Given the description of an element on the screen output the (x, y) to click on. 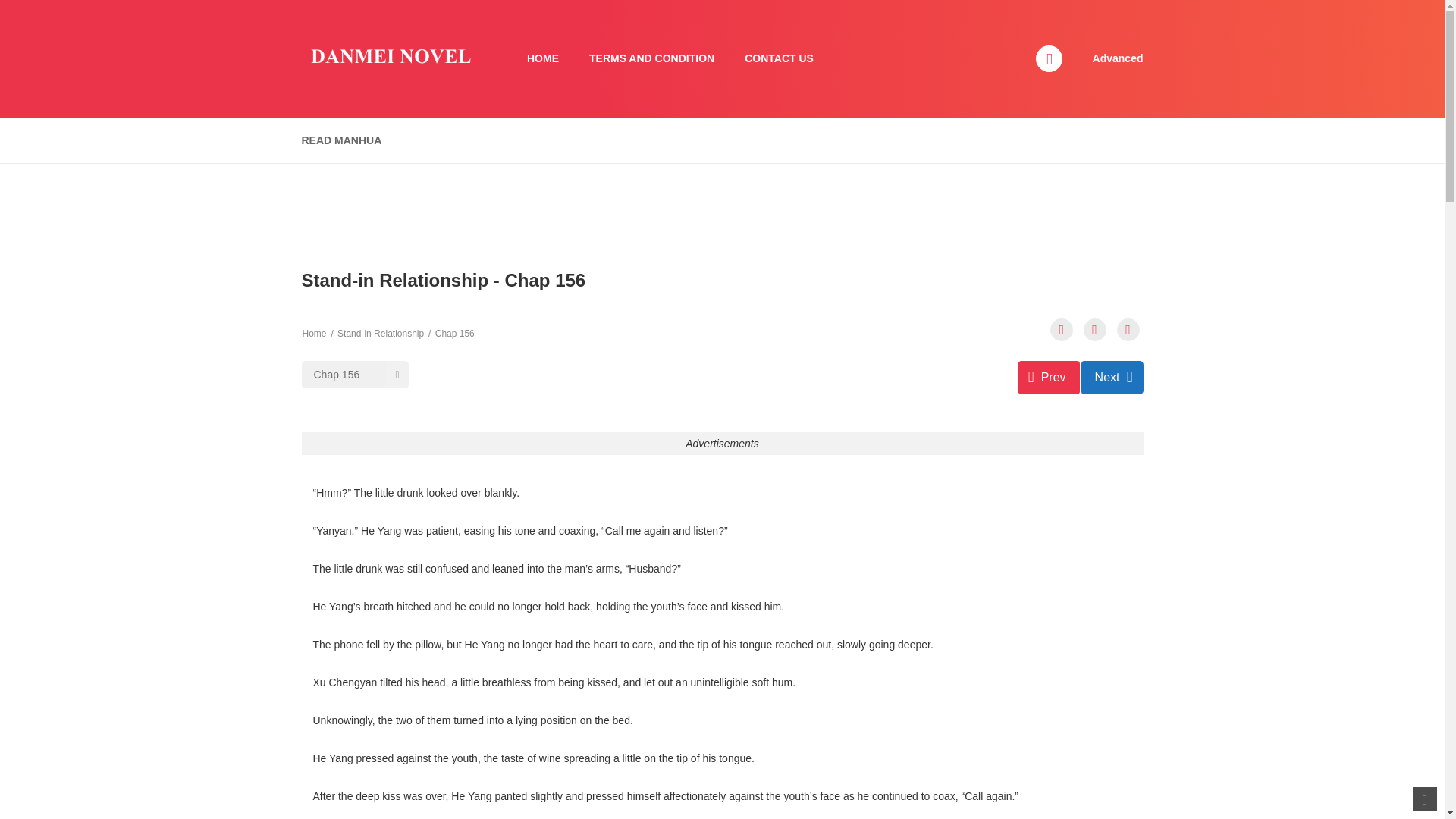
Search (970, 9)
Chap 157 (1111, 377)
Chap 155 (1048, 377)
Next (1111, 377)
Advanced (1117, 58)
READ MANHUA (341, 140)
CONTACT US (778, 58)
Prev (1048, 377)
Home (313, 333)
Stand-in Relationship (380, 333)
TERMS AND CONDITION (651, 58)
Danmei Novels (389, 57)
HOME (542, 58)
